Given the description of an element on the screen output the (x, y) to click on. 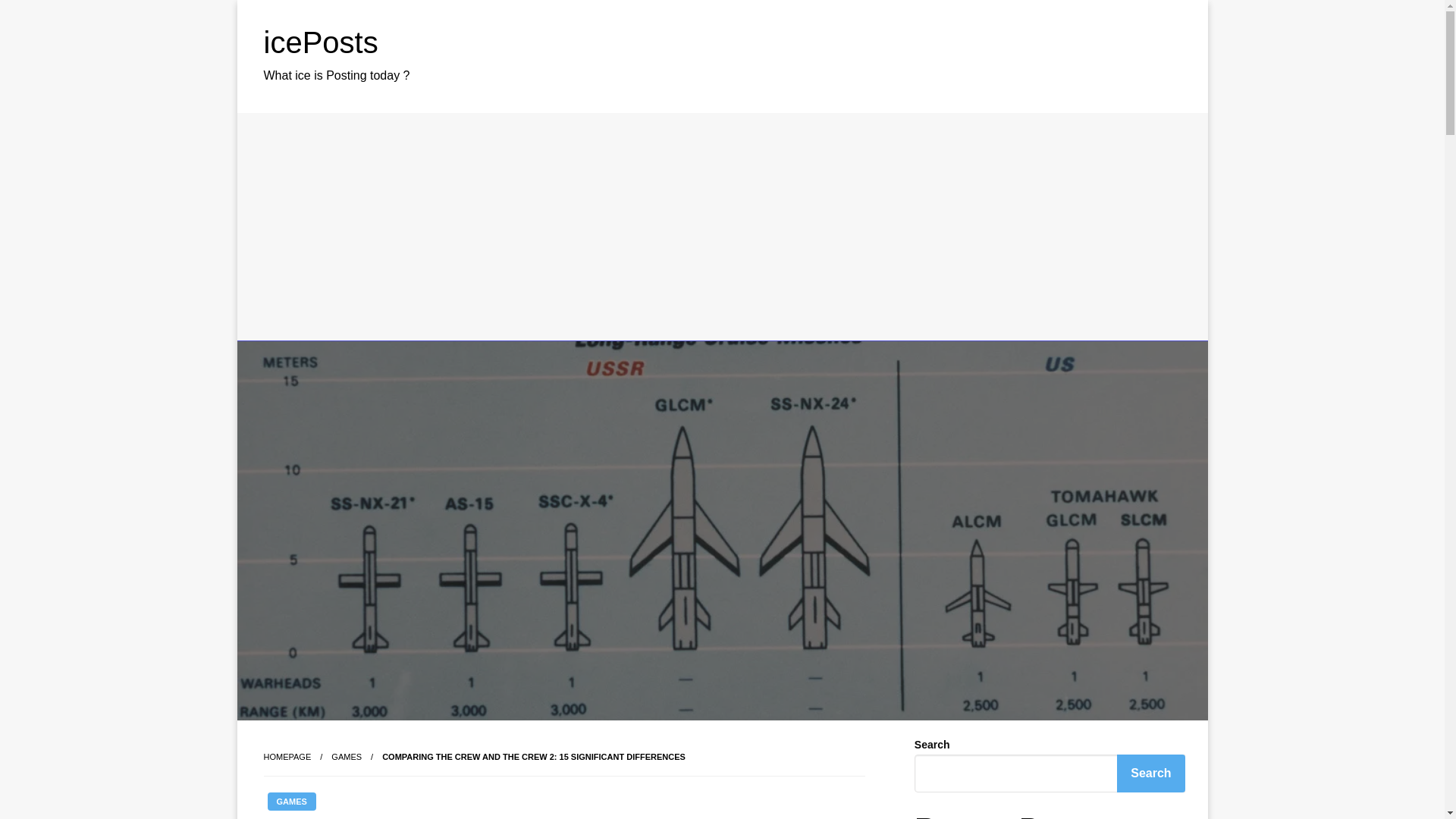
HOMEPAGE (287, 756)
Search (1150, 773)
GAMES (290, 801)
Homepage (287, 756)
icePosts (320, 41)
GAMES (346, 756)
Games (346, 756)
